Given the description of an element on the screen output the (x, y) to click on. 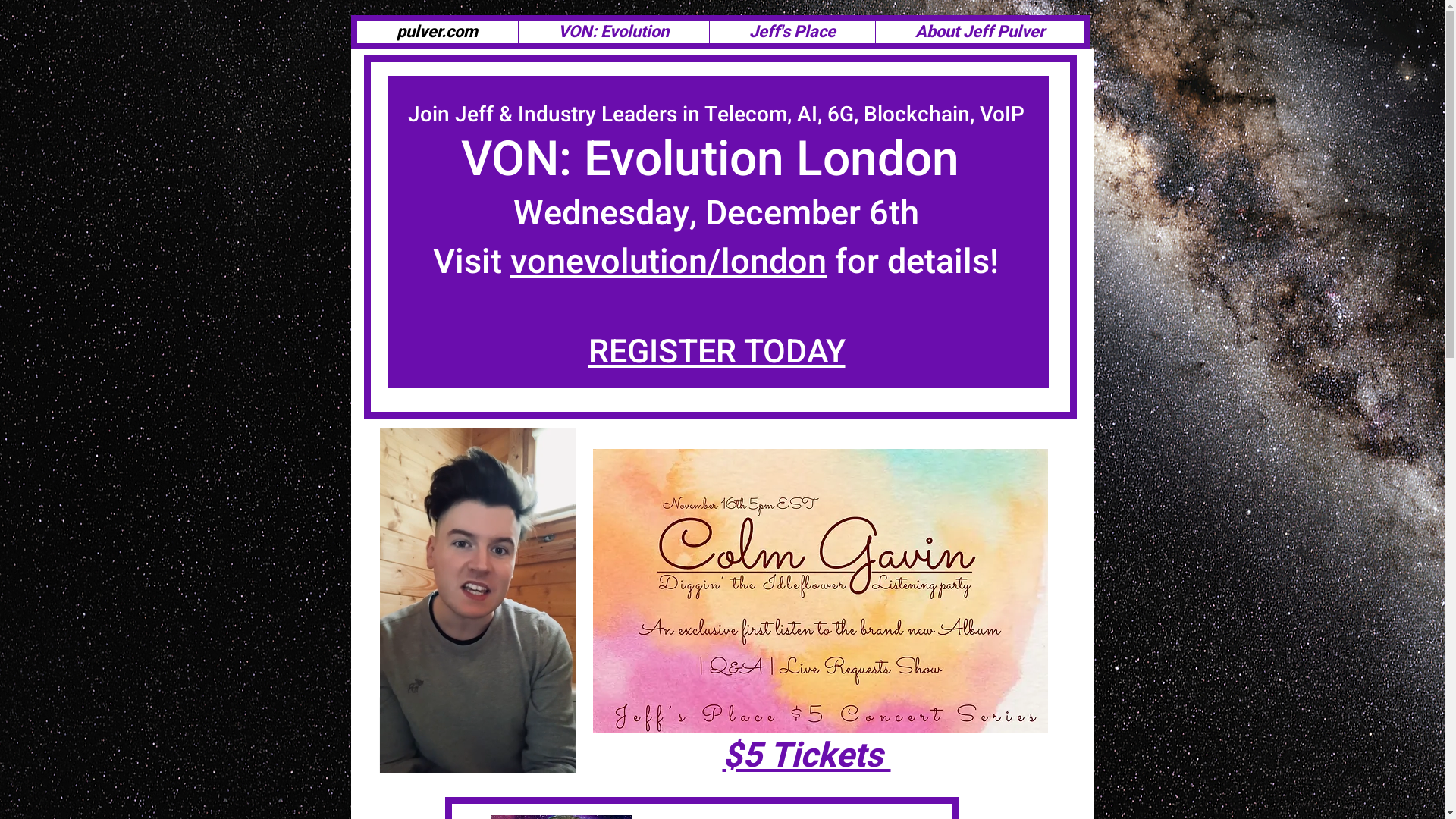
vonevolution/london Element type: text (668, 262)
REGISTER TODAY Element type: text (716, 352)
IMG-20231104-WA0007.jpg Element type: hover (820, 590)
Jeff's Place Element type: text (791, 32)
pulver.com Element type: text (436, 32)
VON: Evolution Element type: text (612, 32)
About Jeff Pulver Element type: text (979, 32)
$5 Tickets  Element type: text (805, 756)
